Given the description of an element on the screen output the (x, y) to click on. 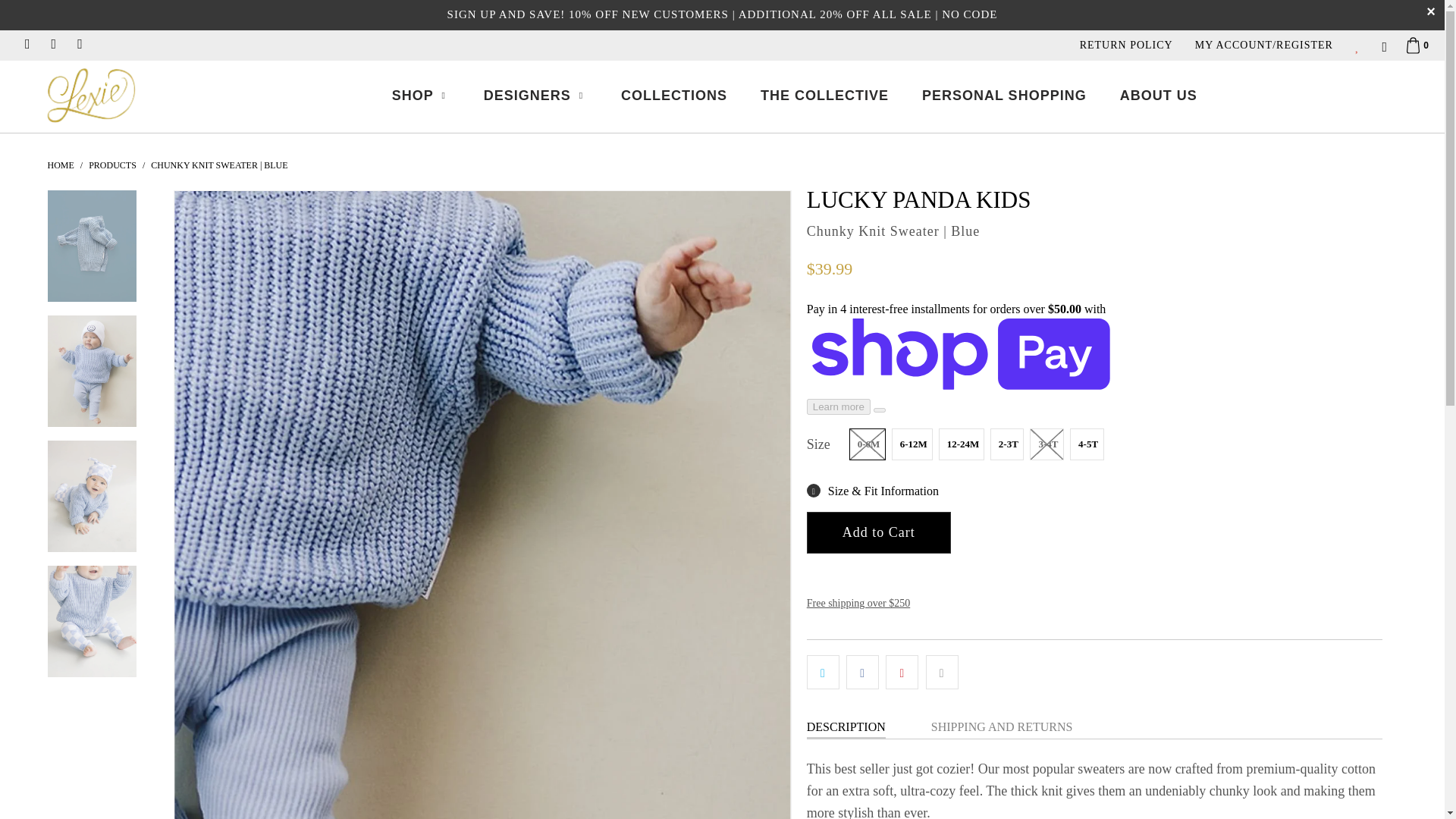
Share this on Pinterest (901, 672)
Lexie  on Facebook (53, 45)
Share this on Twitter (823, 672)
Products (113, 164)
Lexie  (90, 95)
Lexie  on Instagram (26, 45)
Email this to a friend (942, 672)
My Wishlist (1358, 45)
Lexie  on Pinterest (79, 45)
Share this on Facebook (862, 672)
Search (1383, 48)
My Account  (1263, 45)
Lexie  (60, 164)
LUCKY PANDA KIDS (918, 199)
